Given the description of an element on the screen output the (x, y) to click on. 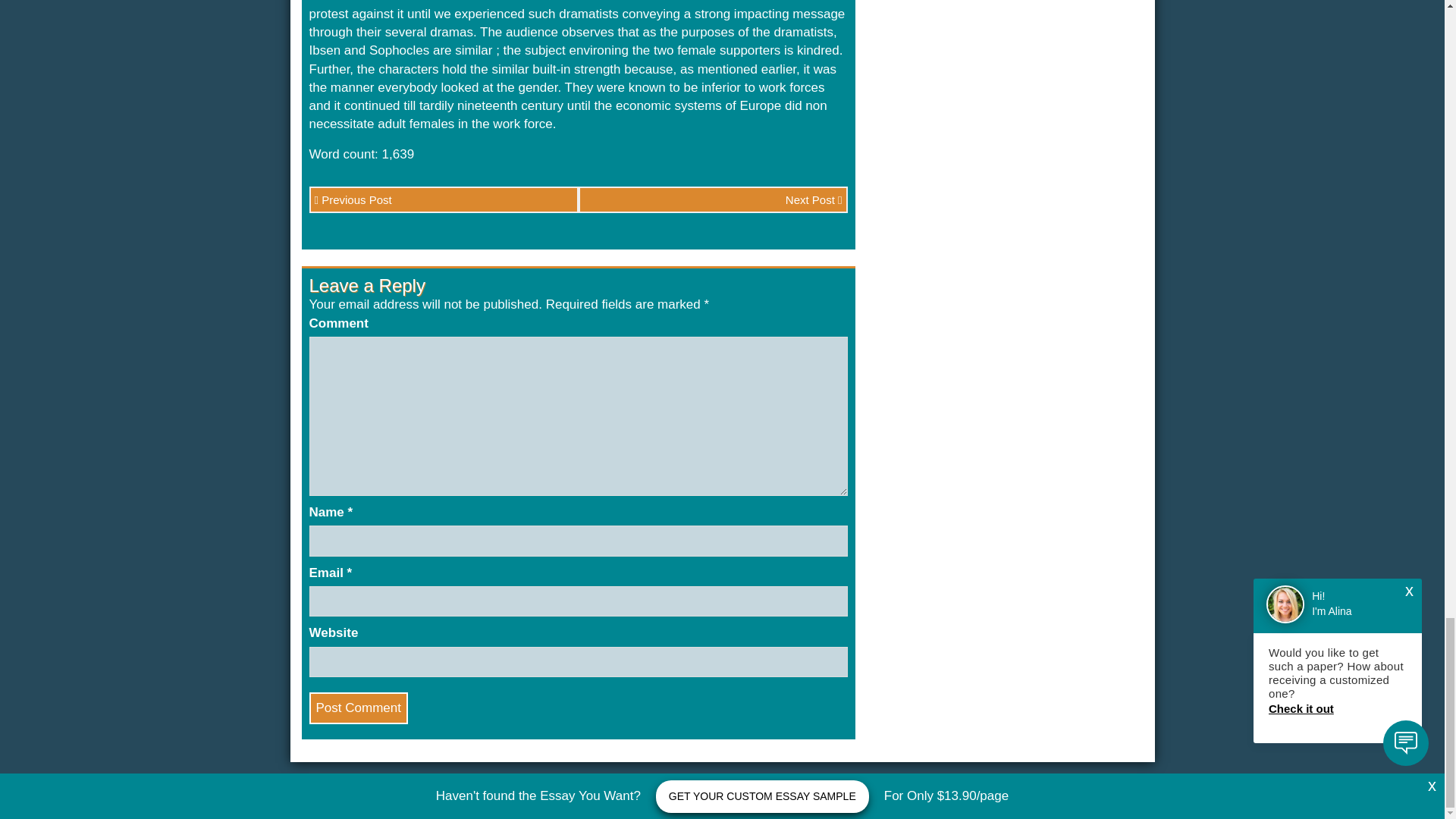
Stiff (1046, 802)
WP3Layouts (1113, 802)
Previous Post (443, 199)
Next Post (712, 199)
Post Comment (357, 707)
Post Comment (357, 707)
